Given the description of an element on the screen output the (x, y) to click on. 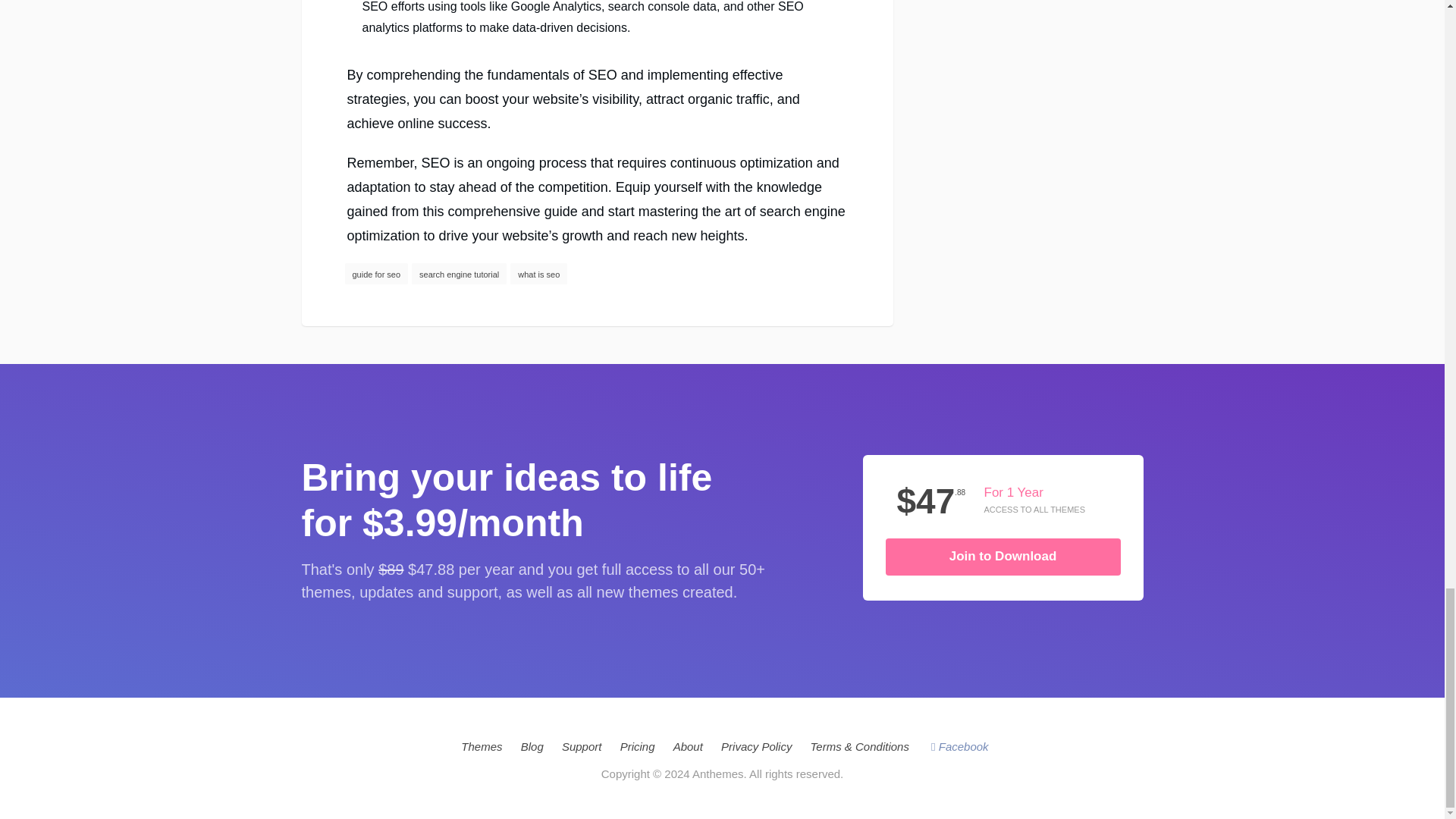
Old Price for Anthemes Club (390, 569)
Pricing (637, 746)
Join to Download (1003, 556)
guide for seo (375, 273)
Facebook (959, 746)
Support (582, 746)
Blog (532, 746)
About (687, 746)
what is seo (539, 273)
Privacy Policy (756, 746)
Themes (481, 746)
search engine tutorial (459, 273)
Facebook (959, 746)
